Given the description of an element on the screen output the (x, y) to click on. 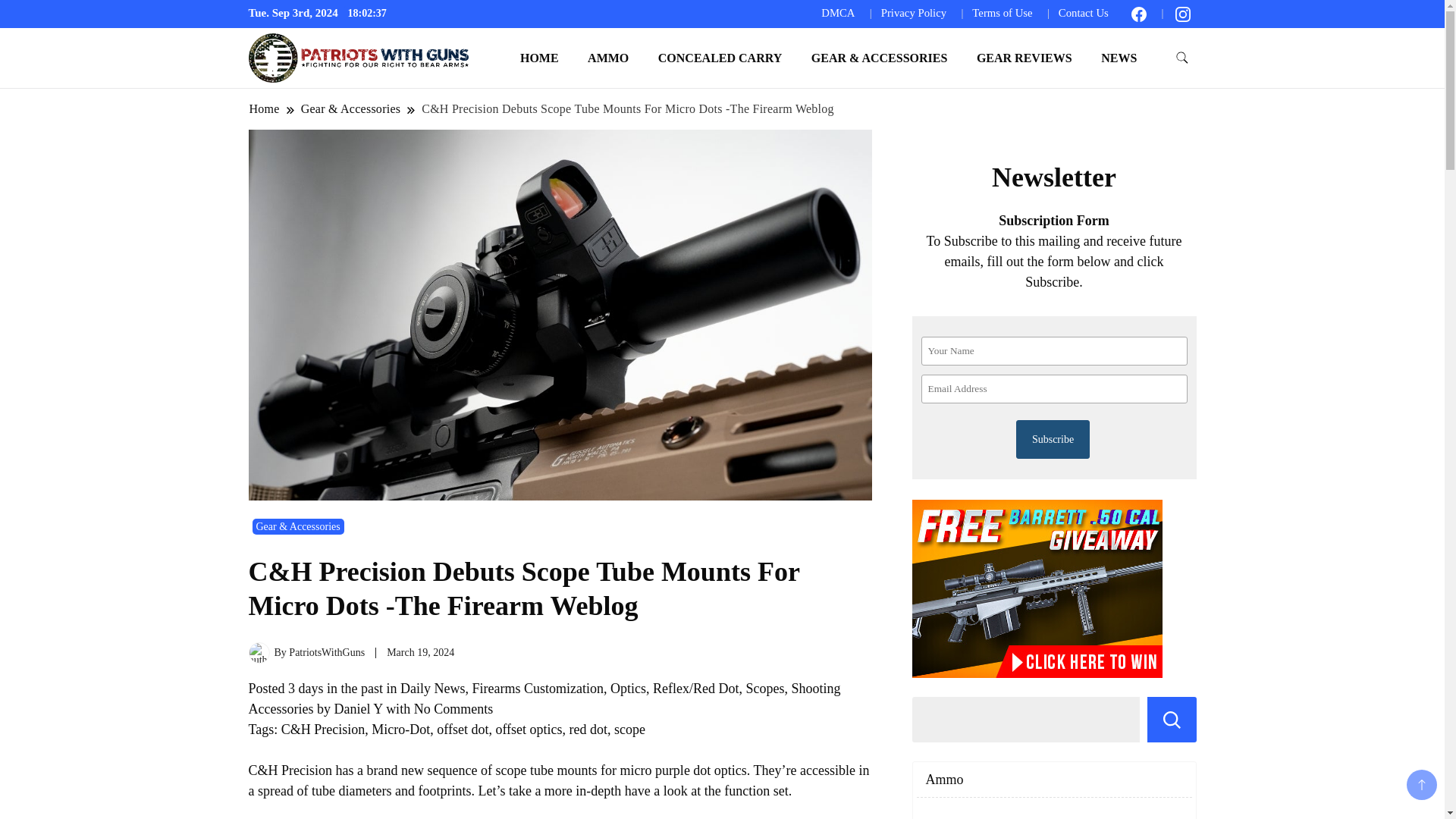
HOME (539, 57)
Contact Us (1083, 12)
Privacy Policy (913, 12)
Terms of Use (1002, 12)
AMMO (608, 57)
Subscribe (1052, 439)
Home (264, 108)
Optics (628, 688)
DMCA (837, 12)
March 19, 2024 (420, 652)
